Given the description of an element on the screen output the (x, y) to click on. 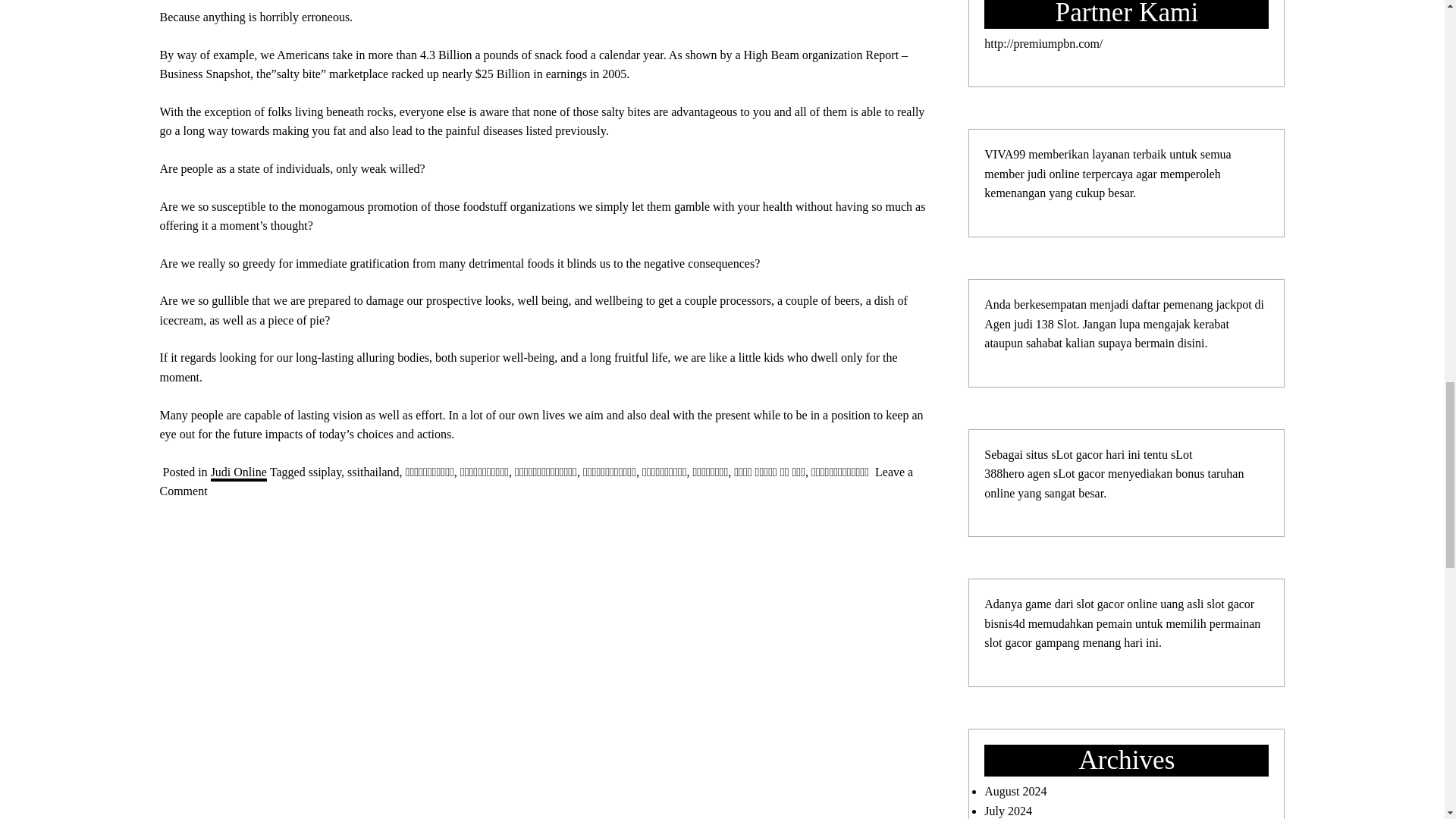
ssithailand (372, 472)
judi online terpercaya (1080, 173)
slot gacor (1101, 603)
August 2024 (1015, 790)
Leave a Comment (535, 481)
ssiplay (324, 472)
138 Slot (1056, 323)
sLot gacor (1076, 454)
Judi Online (238, 473)
